Given the description of an element on the screen output the (x, y) to click on. 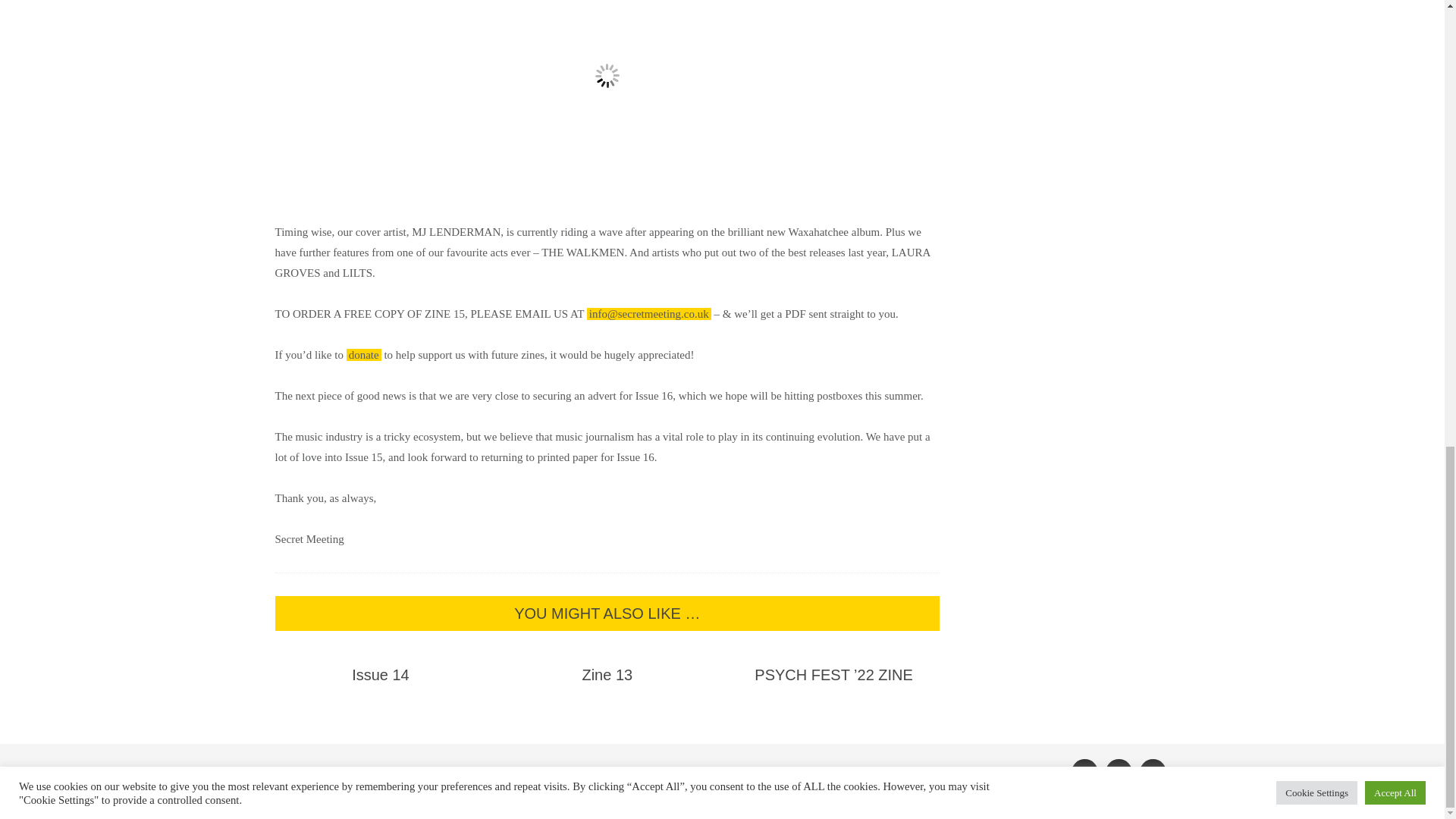
YouTube video player (607, 97)
Issue 14 (380, 674)
donate (363, 354)
Zine 13 (605, 674)
